Given the description of an element on the screen output the (x, y) to click on. 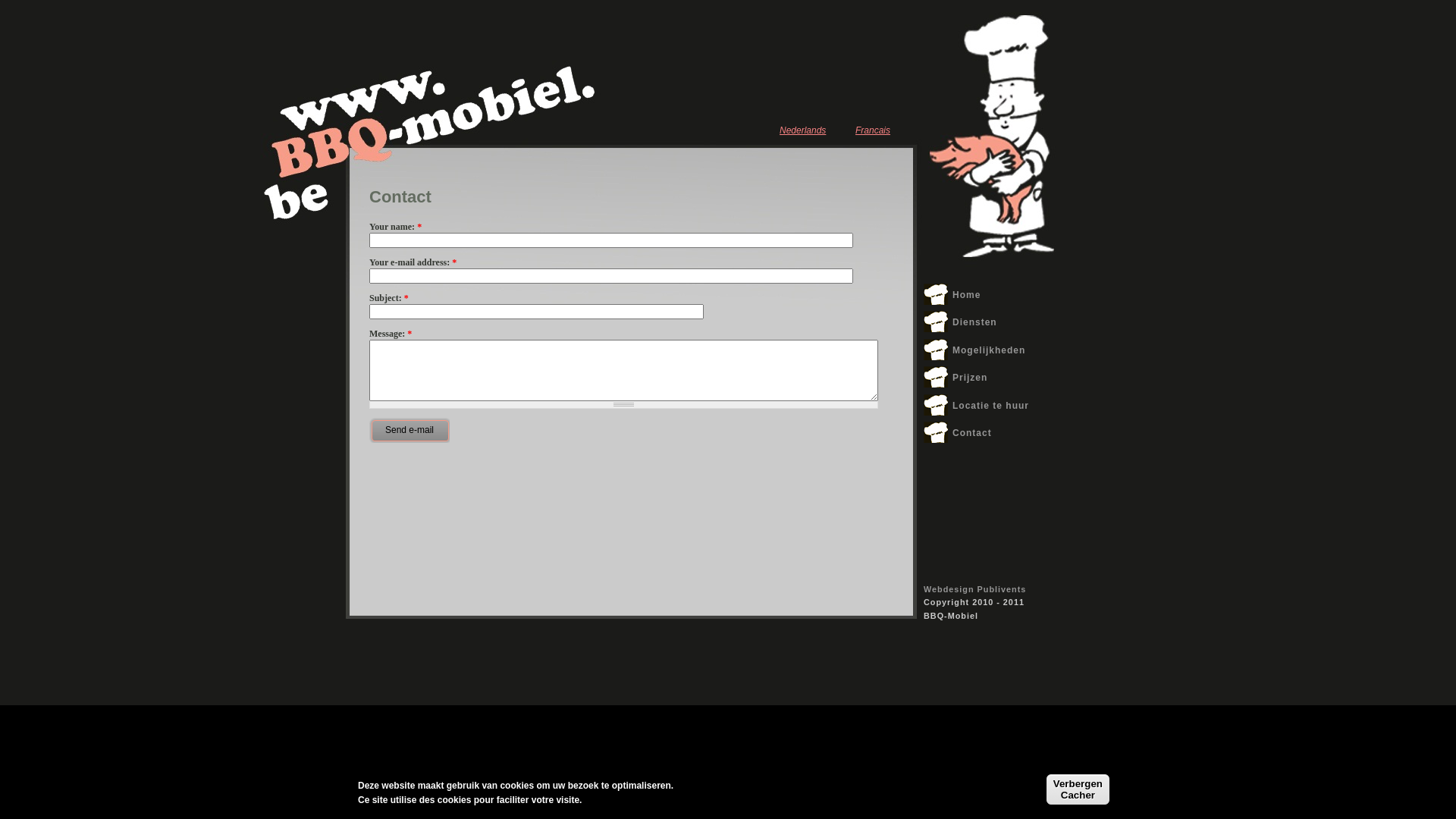
Diensten Element type: text (974, 321)
Send e-mail Element type: text (409, 429)
Prijzen Element type: text (969, 377)
Contact Element type: text (971, 432)
Mogelijkheden Element type: text (988, 350)
Nederlands Element type: text (802, 130)
Verbergen
Cacher Element type: text (1077, 789)
Locatie te huur Element type: text (990, 405)
Home Element type: text (966, 294)
Francais Element type: text (872, 130)
Webdesign Publivents Element type: text (974, 588)
